Given the description of an element on the screen output the (x, y) to click on. 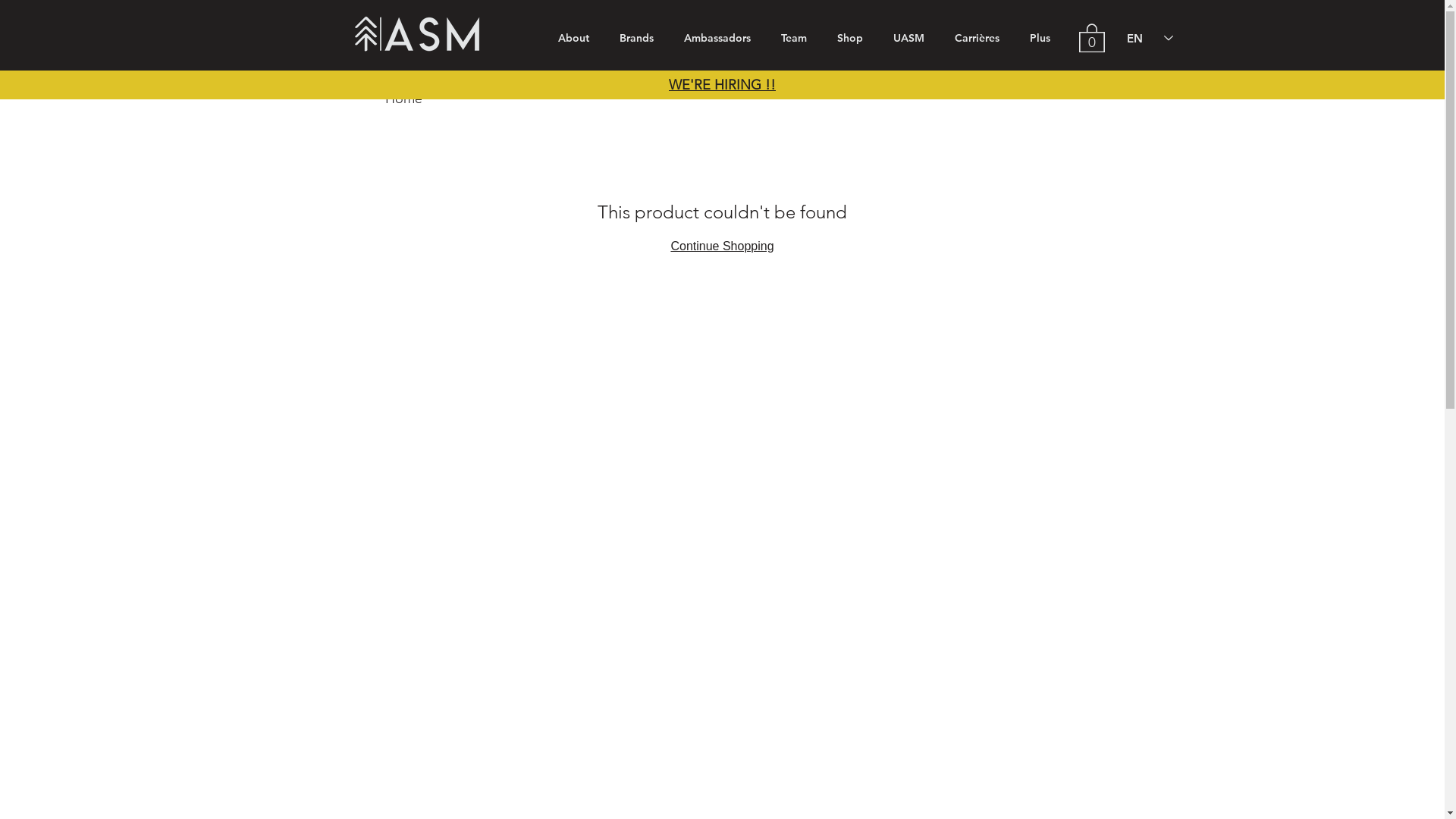
Team Element type: text (793, 38)
Brands Element type: text (635, 38)
Continue Shopping Element type: text (721, 245)
WE'RE HIRING !! Element type: text (721, 84)
UASM Element type: text (908, 38)
Shop Element type: text (850, 38)
Ambassadors Element type: text (716, 38)
0 Element type: text (1091, 36)
About Element type: text (573, 38)
Home Element type: text (403, 98)
